Given the description of an element on the screen output the (x, y) to click on. 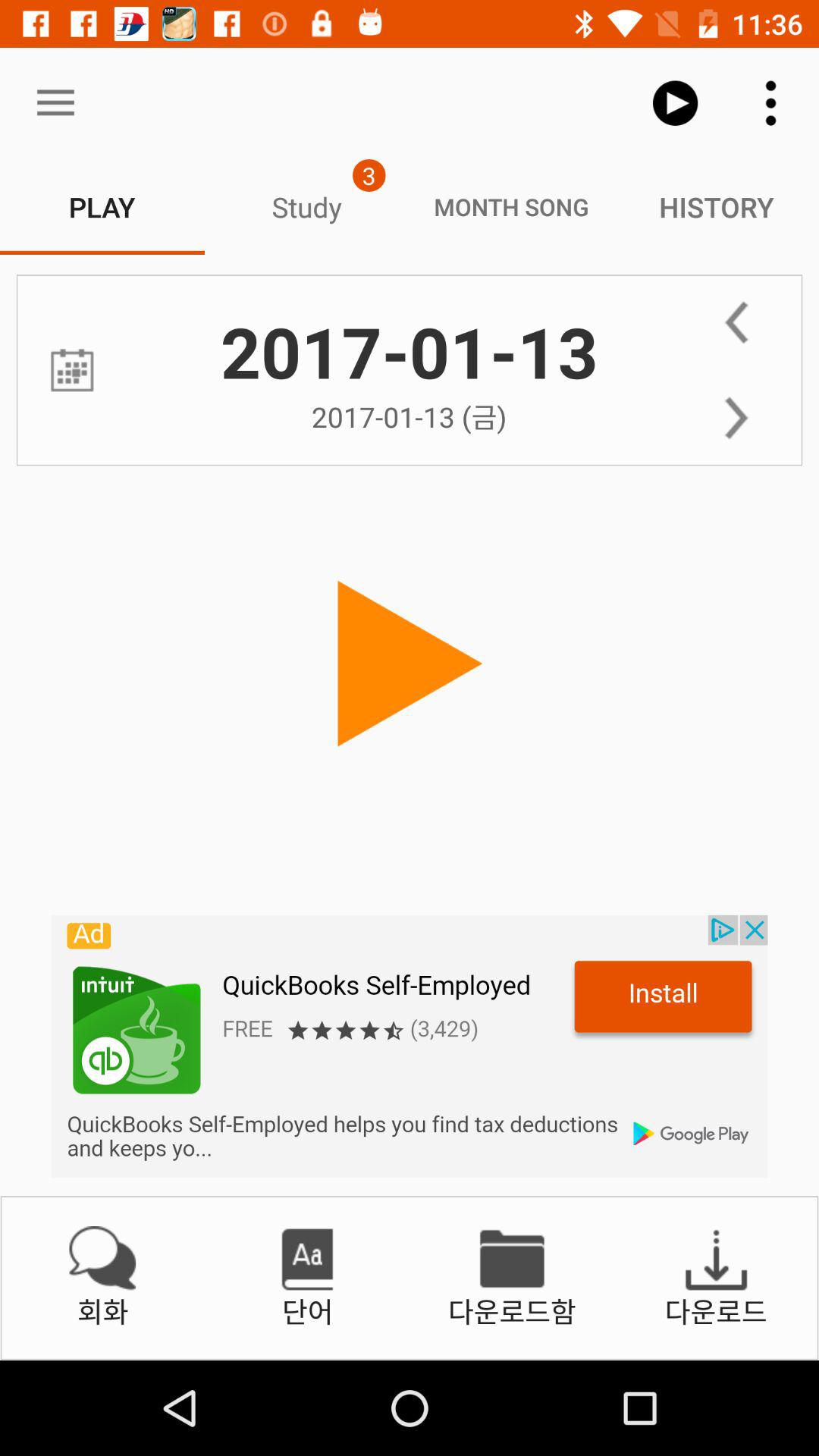
go to icon (71, 370)
